Given the description of an element on the screen output the (x, y) to click on. 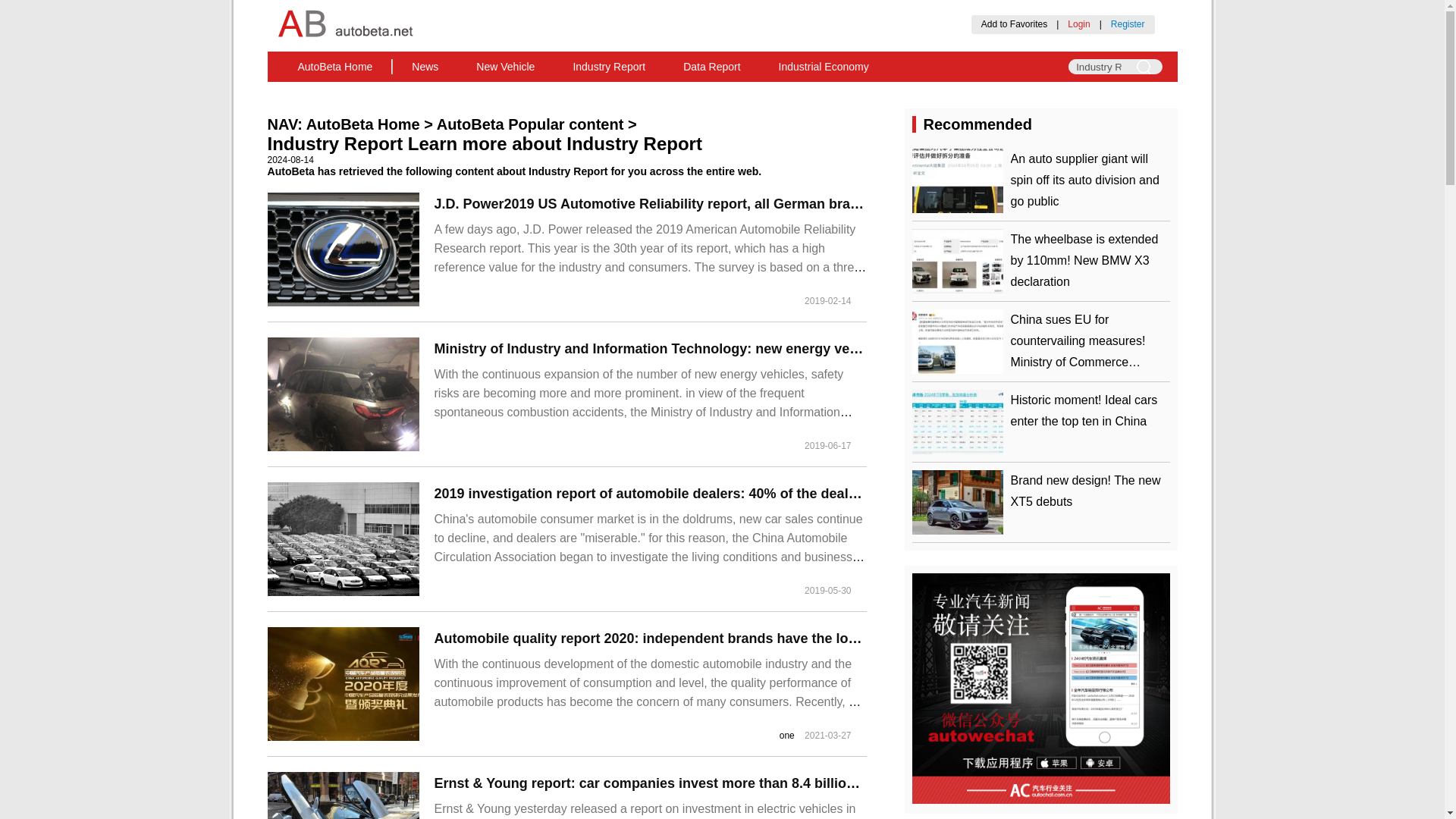
one (786, 735)
News (425, 66)
Industry Report (608, 66)
AutoBeta (335, 66)
Industrial Economy (824, 66)
AutoBeta Home (335, 66)
AutoBeta Popular content (530, 124)
Data Report (710, 66)
AutoBeta Home (362, 124)
